Given the description of an element on the screen output the (x, y) to click on. 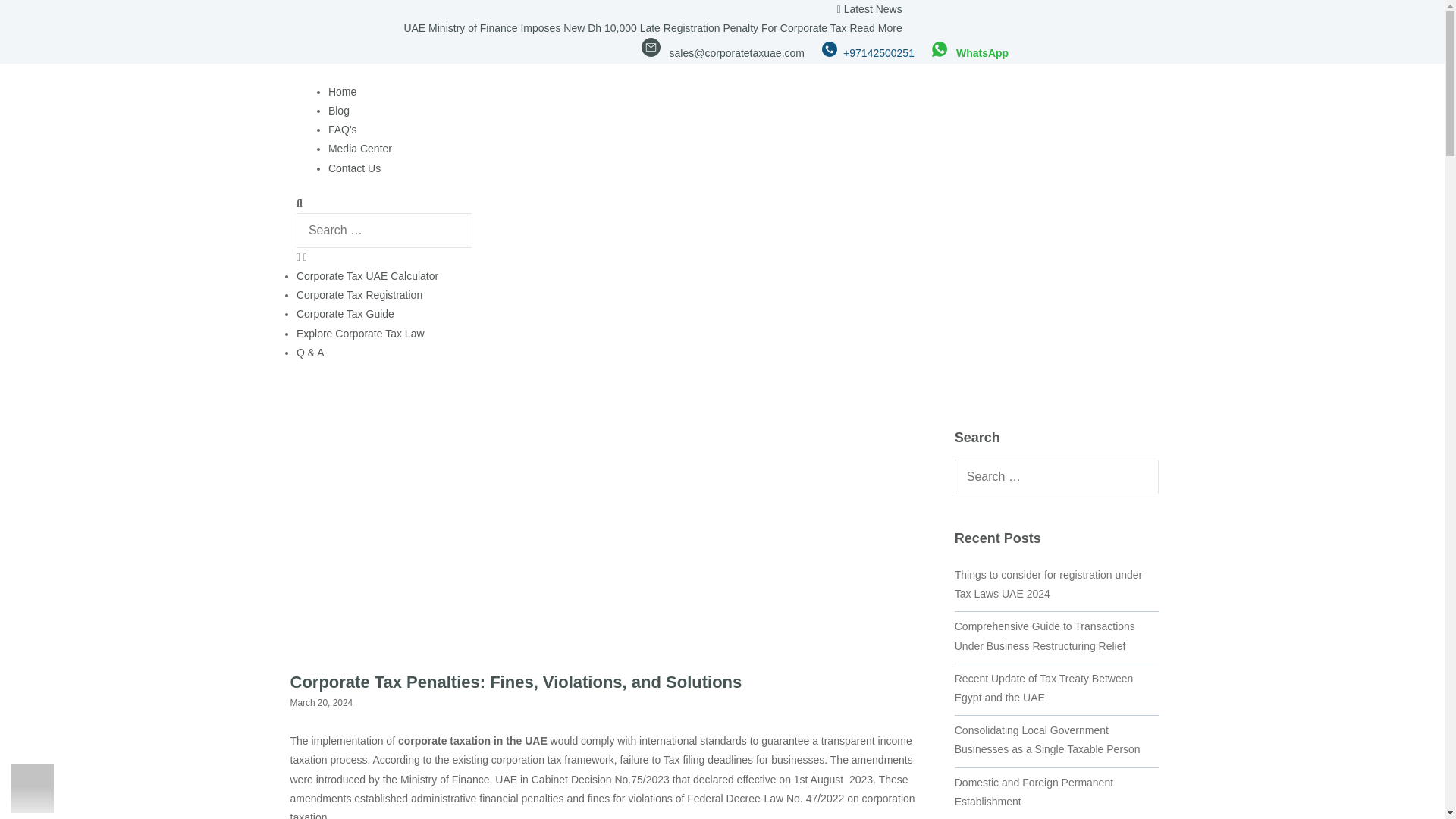
Latest News (873, 9)
Search for: (1056, 476)
Things to consider for registration under Tax Laws UAE 2024 (1048, 583)
0097142500251 (869, 52)
Media Center (360, 148)
Corporate Tax Registration (359, 295)
Explore Corporate Tax Law (361, 333)
Search for: (384, 230)
Recent Update of Tax Treaty Between Egypt and the UAE (1044, 687)
WhatsApp (971, 52)
